Given the description of an element on the screen output the (x, y) to click on. 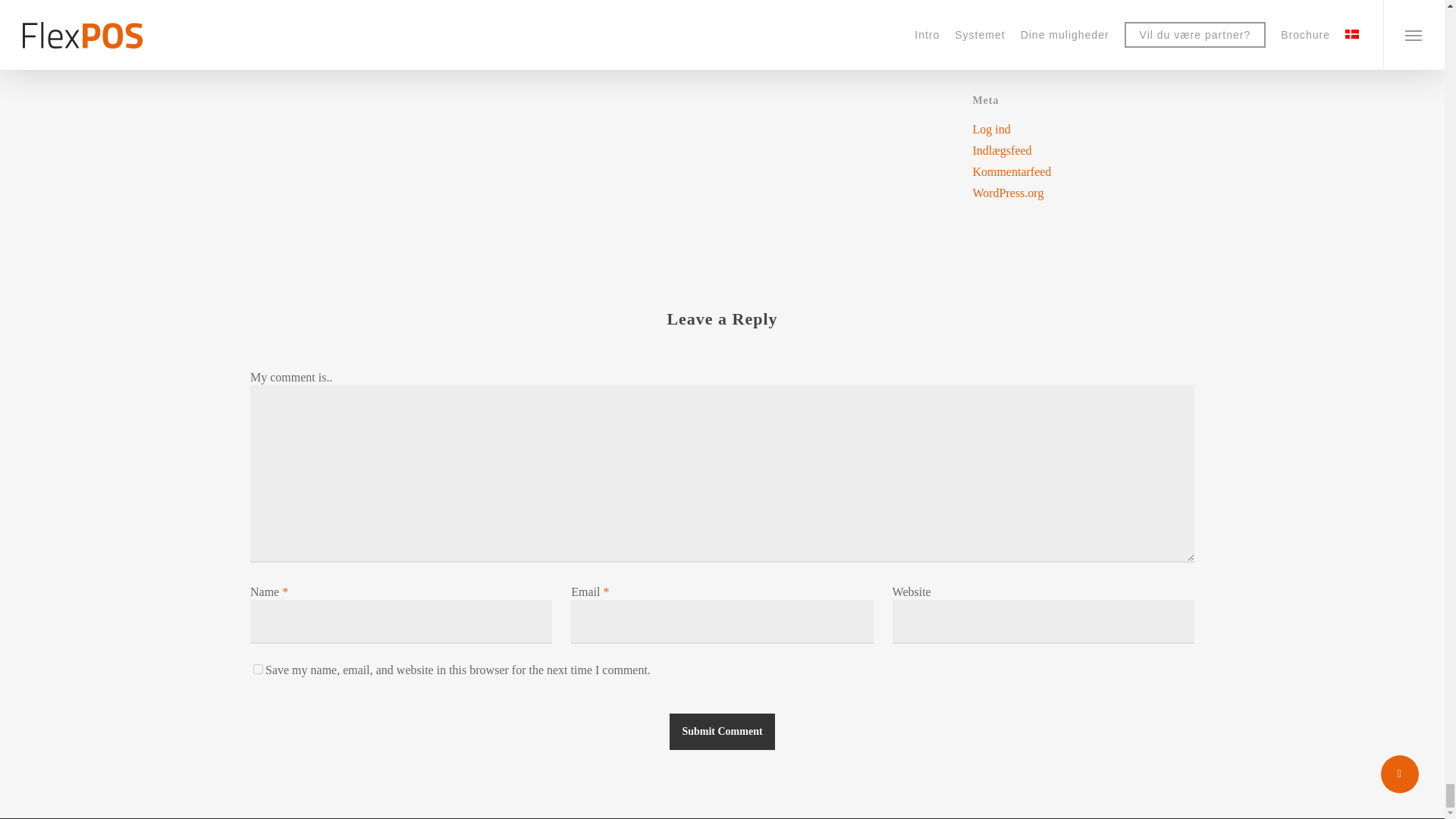
yes (258, 669)
Submit Comment (721, 731)
